Given the description of an element on the screen output the (x, y) to click on. 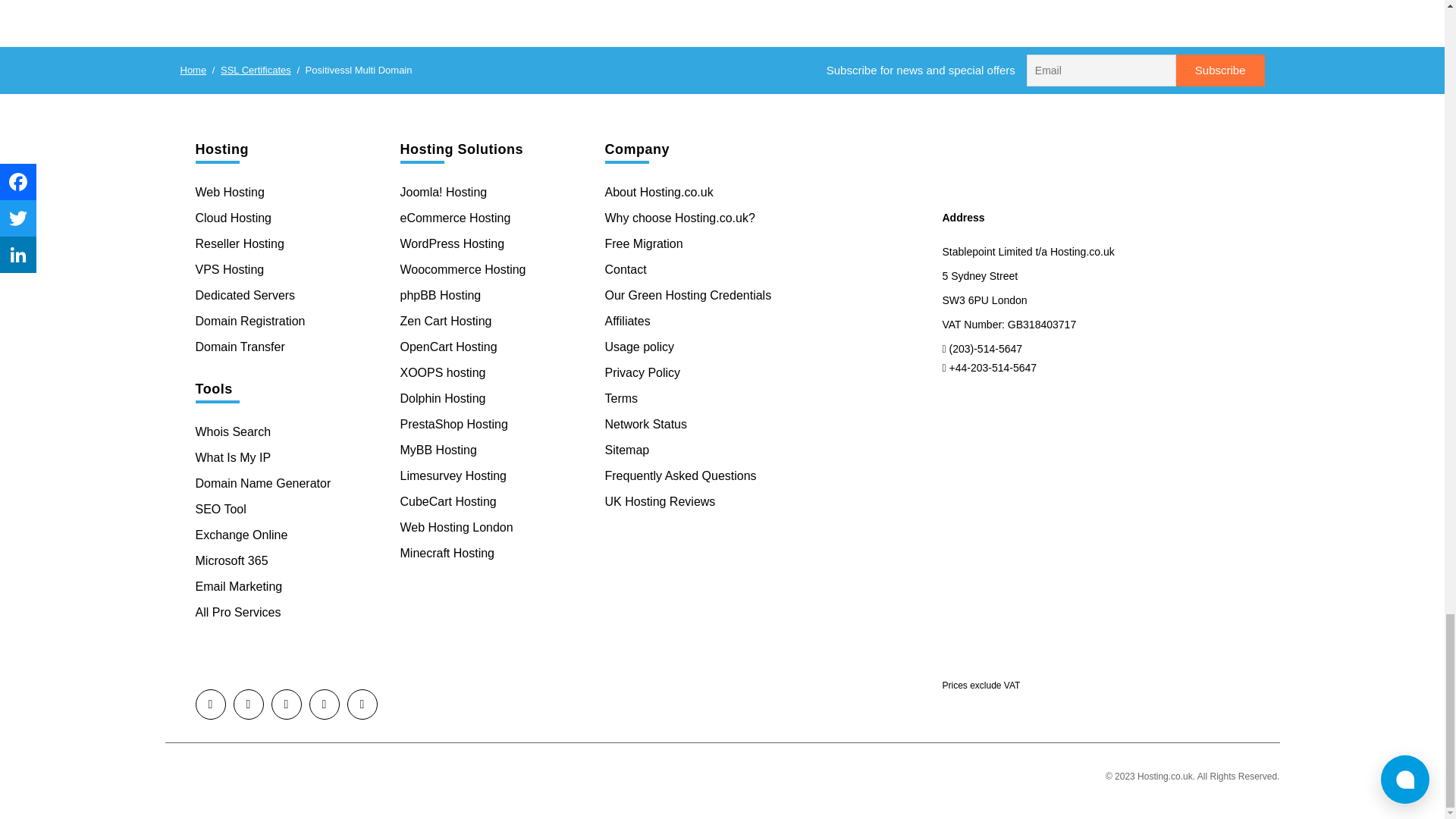
Home (193, 70)
SSL Certificates (256, 70)
Subscribe (1220, 70)
